Given the description of an element on the screen output the (x, y) to click on. 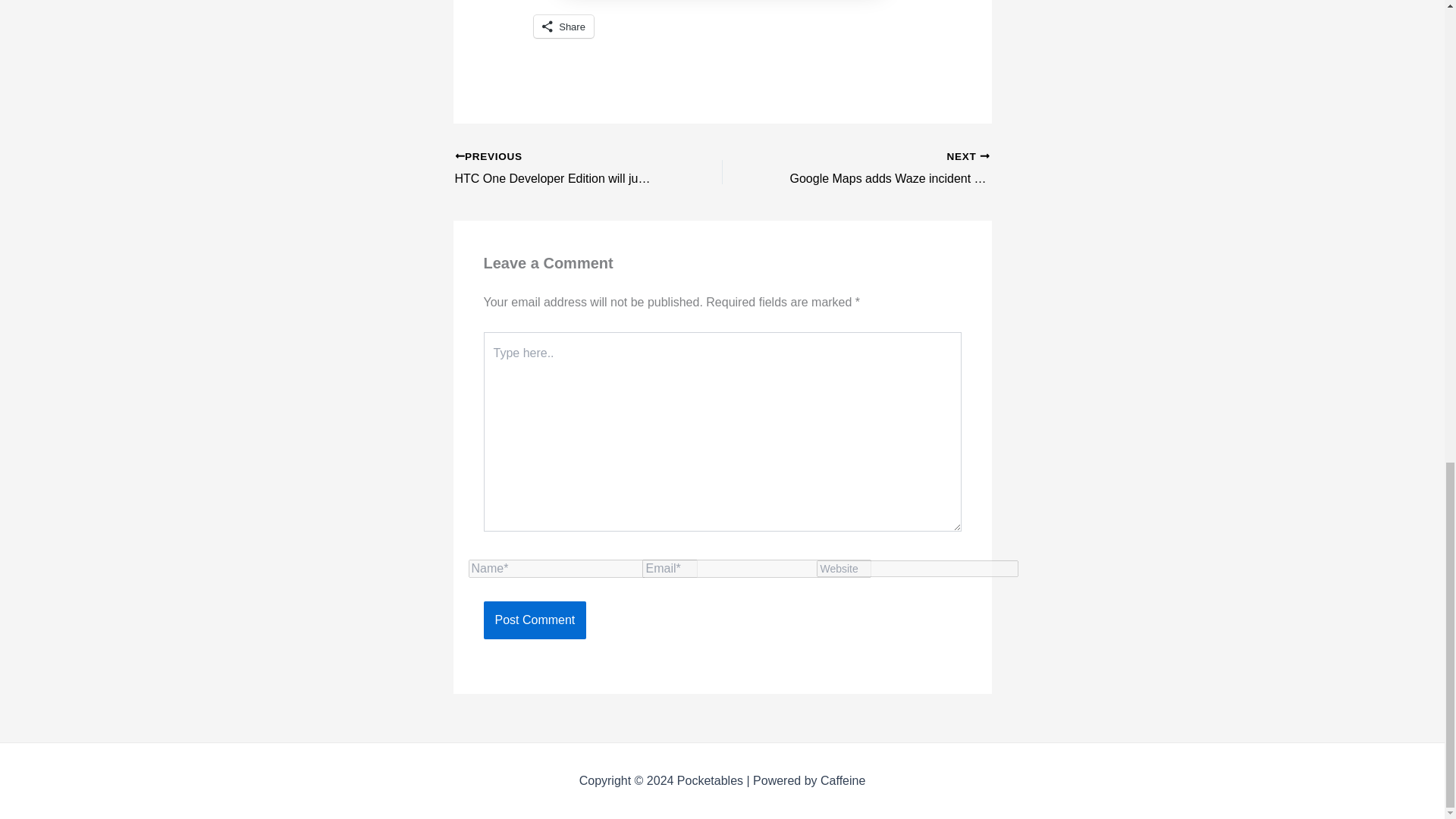
Post Comment (534, 620)
